Given the description of an element on the screen output the (x, y) to click on. 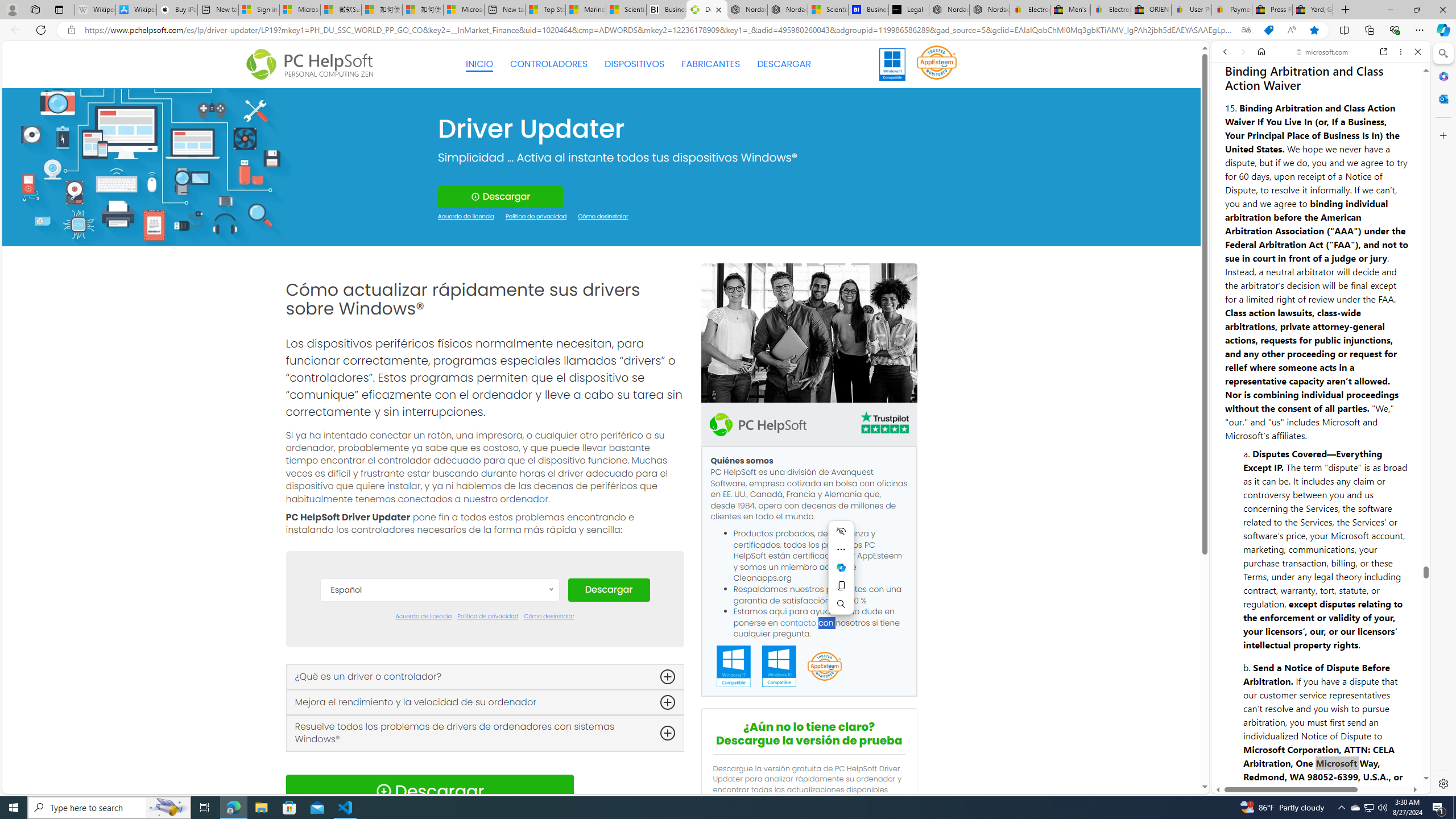
Ask Copilot (840, 567)
Advertise (1334, 757)
Descargar (608, 589)
This site scope (1259, 102)
Hide menu (840, 531)
FABRICANTES (711, 64)
Show translate options (1245, 29)
Privacy (1252, 751)
TrustPilot (884, 422)
